Given the description of an element on the screen output the (x, y) to click on. 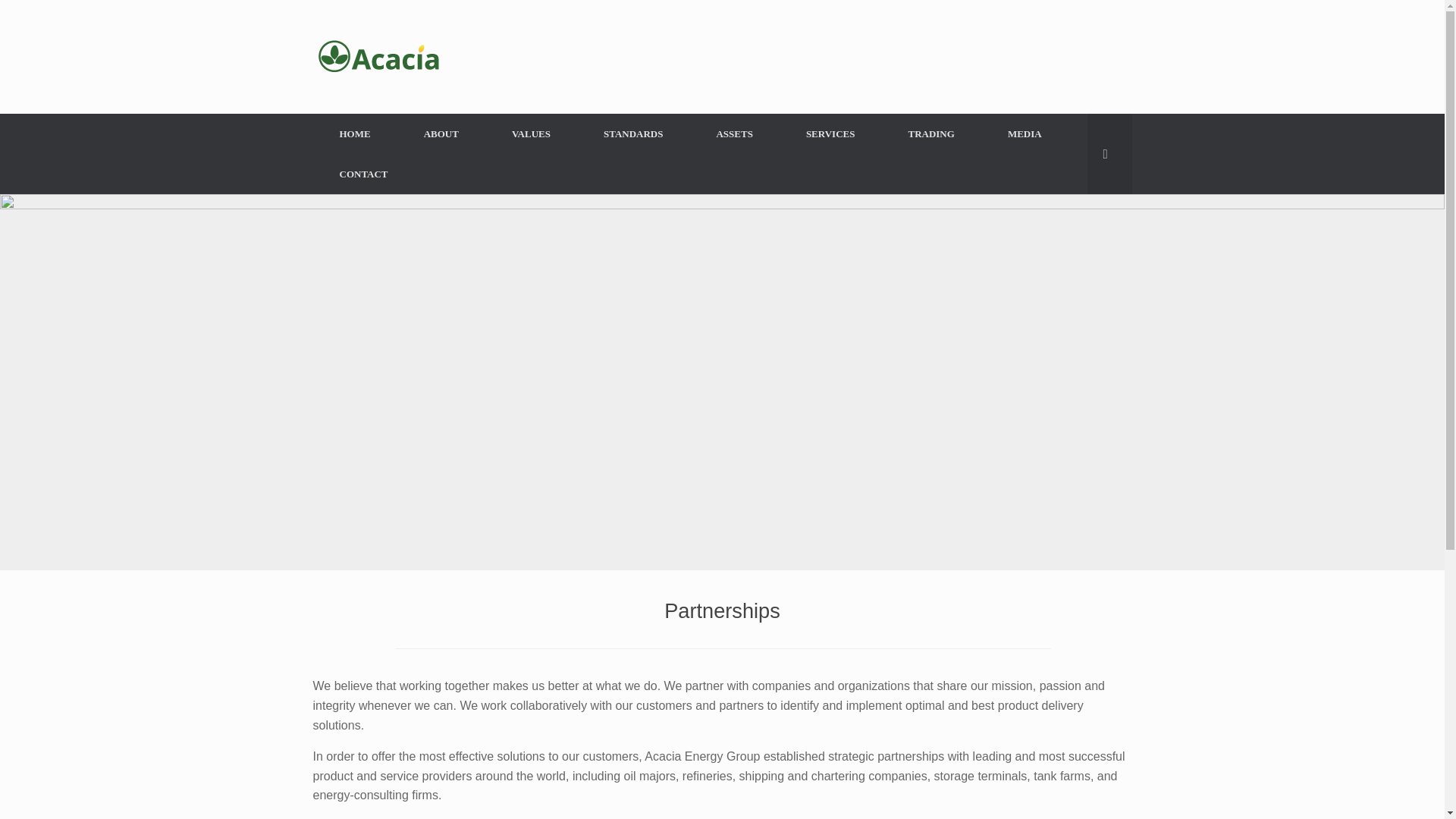
ABOUT (440, 133)
HOME (354, 133)
ASSETS (733, 133)
STANDARDS (633, 133)
Acacia Energy Group (379, 56)
CONTACT (363, 173)
SERVICES (830, 133)
MEDIA (1024, 133)
VALUES (530, 133)
TRADING (929, 133)
